Given the description of an element on the screen output the (x, y) to click on. 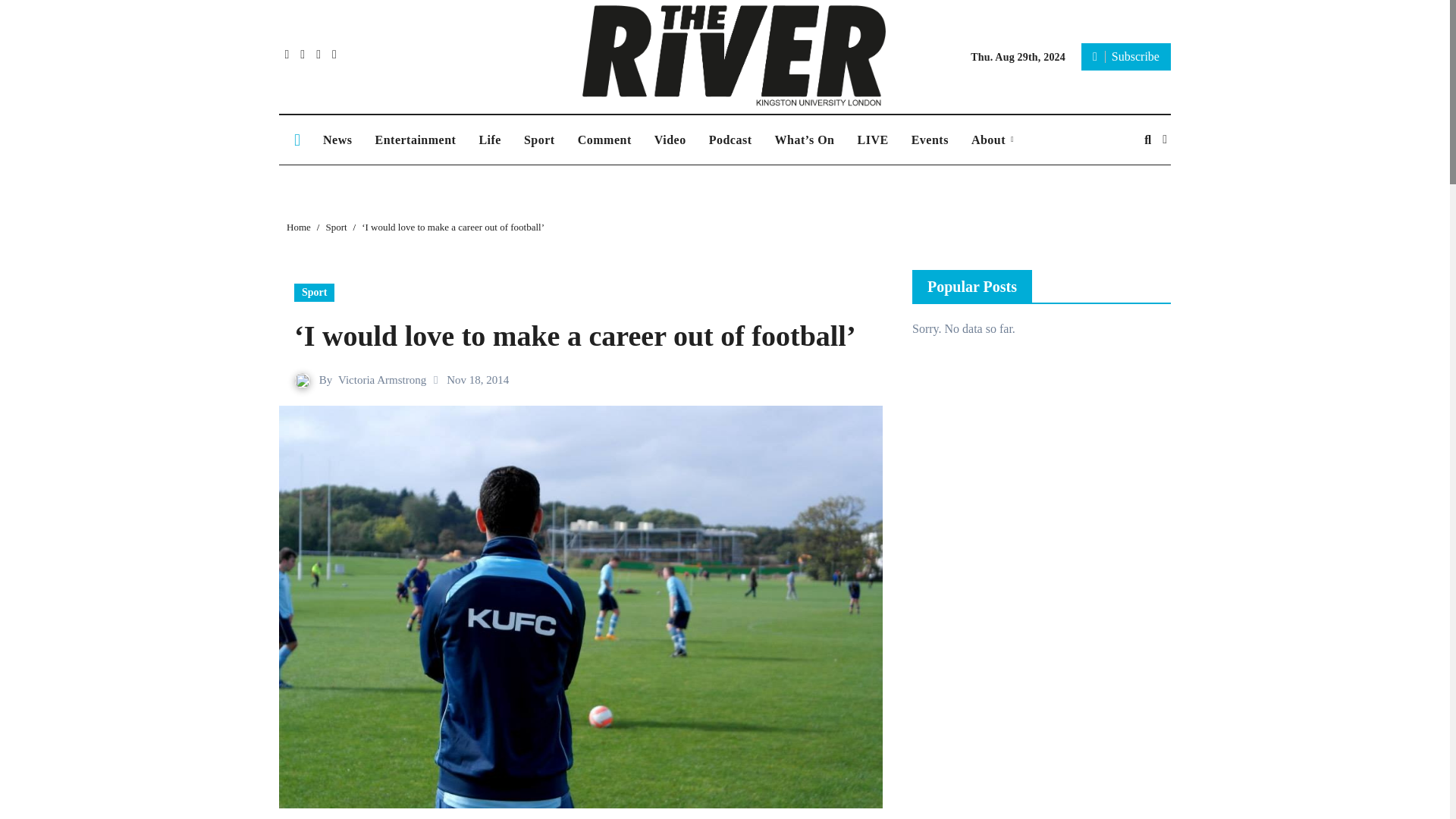
LIVE (872, 139)
Video (670, 139)
Life (489, 139)
News (336, 139)
Life (489, 139)
Entertainment (414, 139)
Comment (604, 139)
Sport (539, 139)
Events (929, 139)
What's On (803, 139)
